Given the description of an element on the screen output the (x, y) to click on. 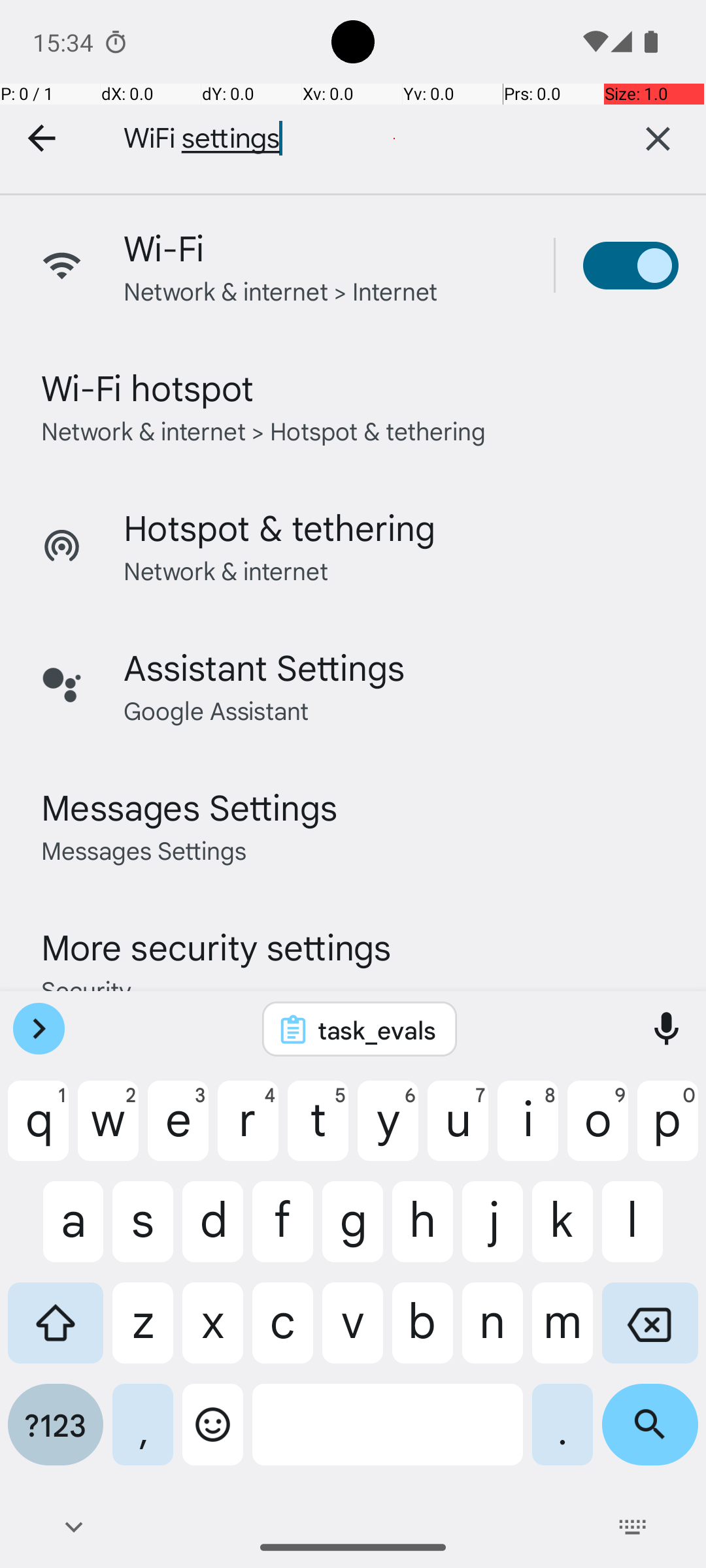
WiFi settings Element type: android.widget.EditText (345, 138)
Clear text Element type: android.widget.ImageButton (657, 138)
Network & internet > Internet Element type: android.widget.TextView (280, 289)
Wi-Fi hotspot Element type: android.widget.TextView (147, 386)
Network & internet > Hotspot & tethering Element type: android.widget.TextView (263, 429)
Assistant Settings Element type: android.widget.TextView (263, 666)
Google Assistant Element type: android.widget.TextView (215, 709)
Messages Settings Element type: android.widget.TextView (189, 806)
More security settings Element type: android.widget.TextView (216, 945)
Security Element type: android.widget.TextView (86, 988)
